Given the description of an element on the screen output the (x, y) to click on. 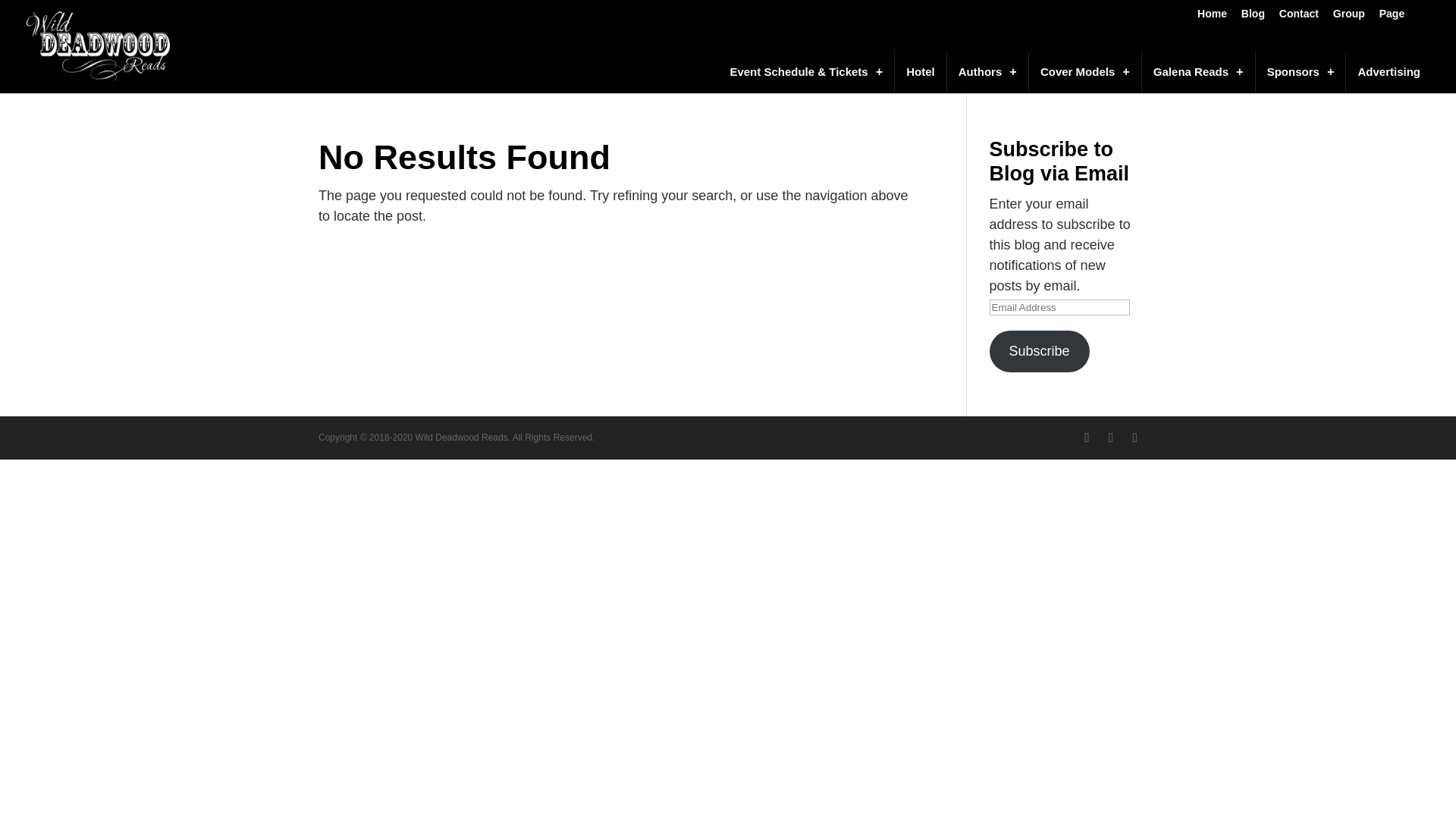
Blog (1253, 16)
Galena Reads (1198, 72)
Group (1349, 16)
Cover Models (1084, 72)
Page (1391, 16)
Authors (986, 72)
Advertising (1388, 72)
Hotel (919, 72)
Home (1211, 16)
Contact (1299, 16)
